Given the description of an element on the screen output the (x, y) to click on. 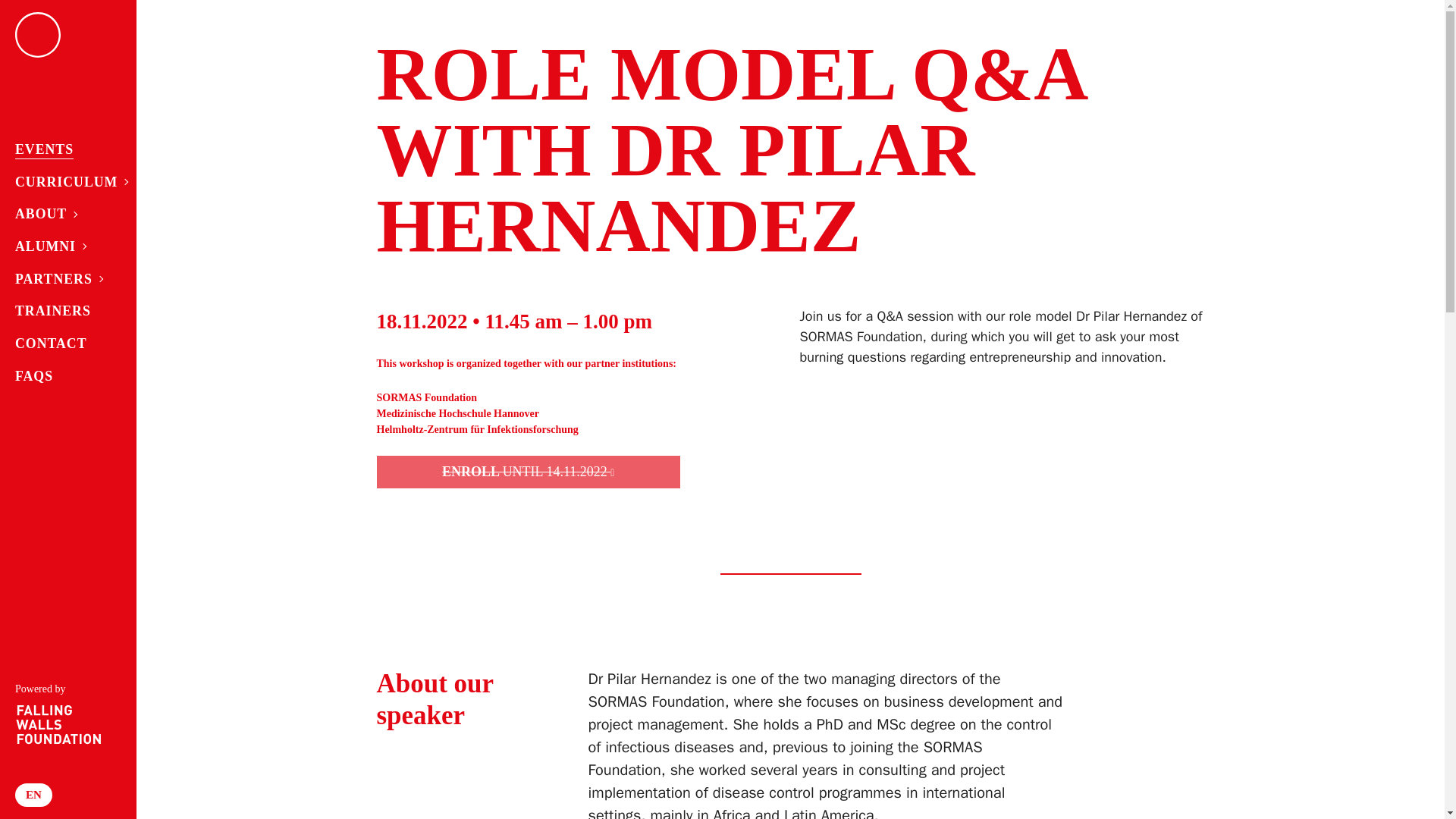
Alumni (61, 246)
Events (61, 149)
About (61, 214)
ABOUT (61, 214)
EVENTS (61, 149)
CURRICULUM (61, 182)
TRAINERS (61, 310)
PARTNERS (61, 278)
Curriculum (61, 182)
ALUMNI (61, 246)
CONTACT (61, 343)
FAQS (61, 376)
